Given the description of an element on the screen output the (x, y) to click on. 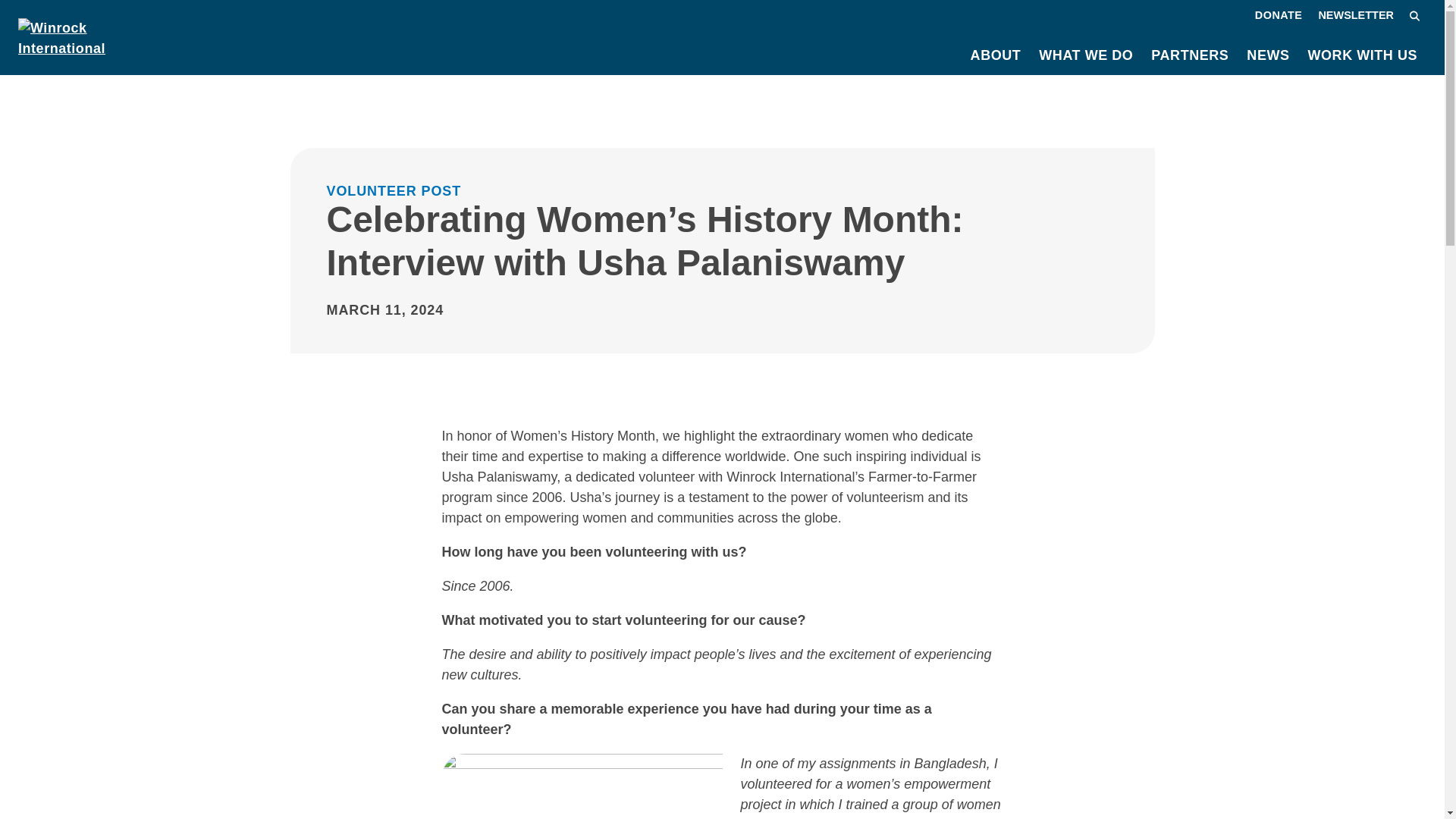
NEWSLETTER (1355, 15)
ABOUT (995, 55)
NEWS (1267, 55)
WORK WITH US (1362, 55)
WHAT WE DO (1085, 55)
Search (1414, 15)
PARTNERS (1189, 55)
DONATE (1278, 15)
